Given the description of an element on the screen output the (x, y) to click on. 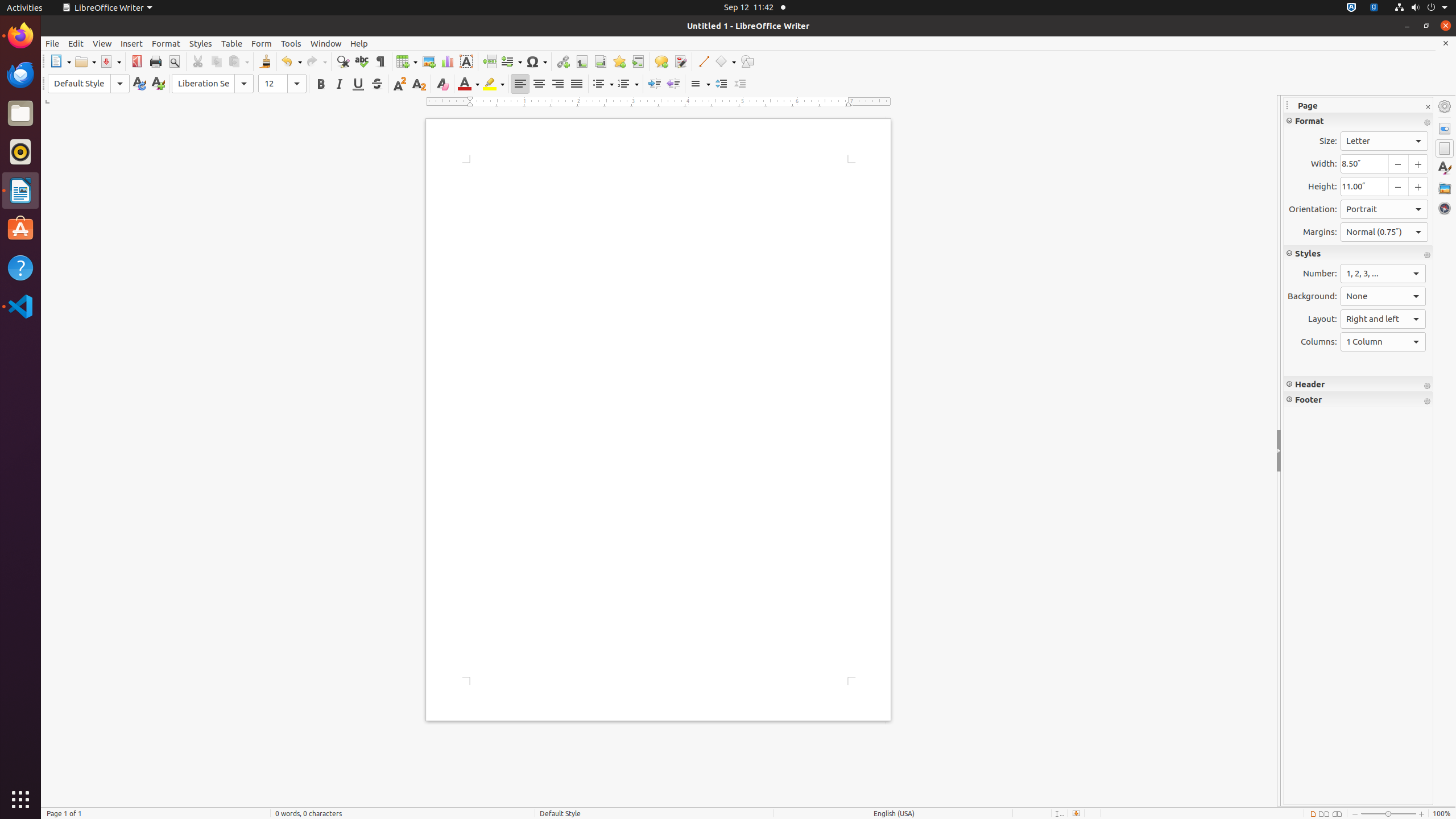
Line Element type: toggle-button (702, 61)
Orientation: Element type: combo-box (1384, 208)
Table Element type: menu (231, 43)
Image Element type: push-button (428, 61)
Increase Element type: push-button (721, 83)
